Given the description of an element on the screen output the (x, y) to click on. 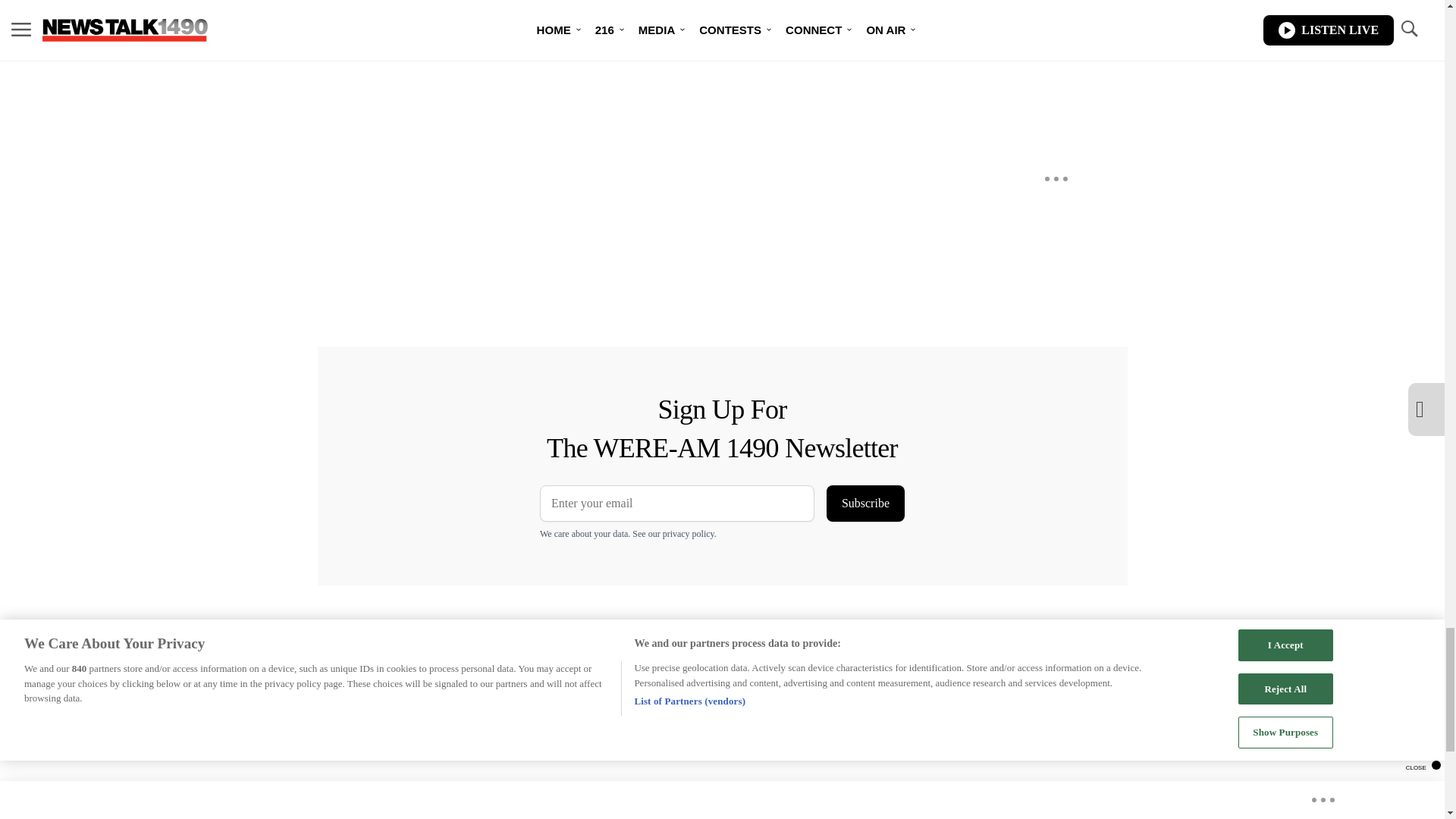
Vuukle Comments Widget (585, 11)
